Given the description of an element on the screen output the (x, y) to click on. 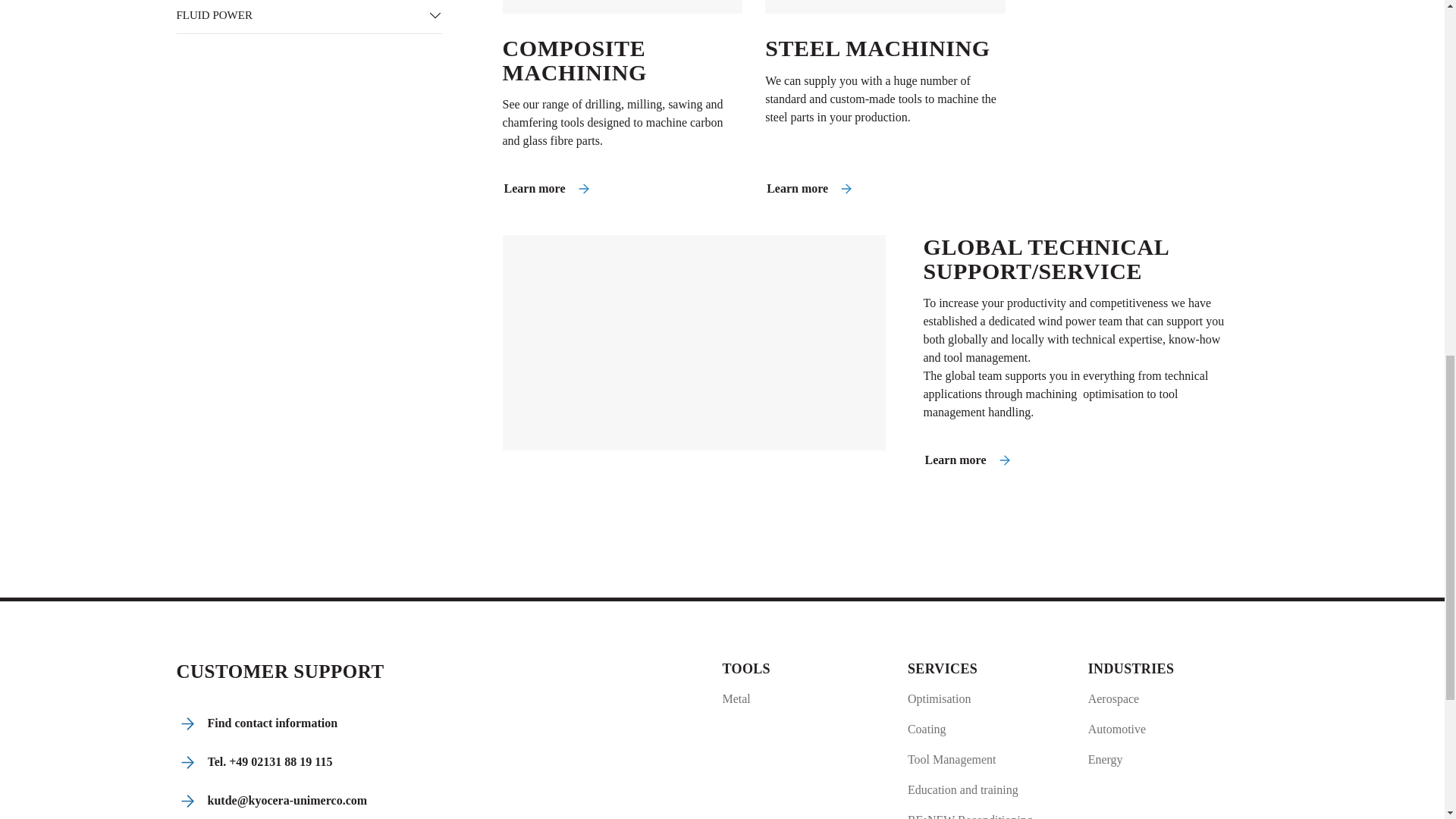
Steel machining (885, 6)
Composite machining (622, 6)
Find contact information (257, 723)
FLUID POWER (296, 16)
Learn more (810, 188)
Find contact information (257, 723)
Learn more (968, 459)
Optimisation (969, 699)
Learn more (547, 188)
Coating (969, 729)
Metal (746, 699)
